Given the description of an element on the screen output the (x, y) to click on. 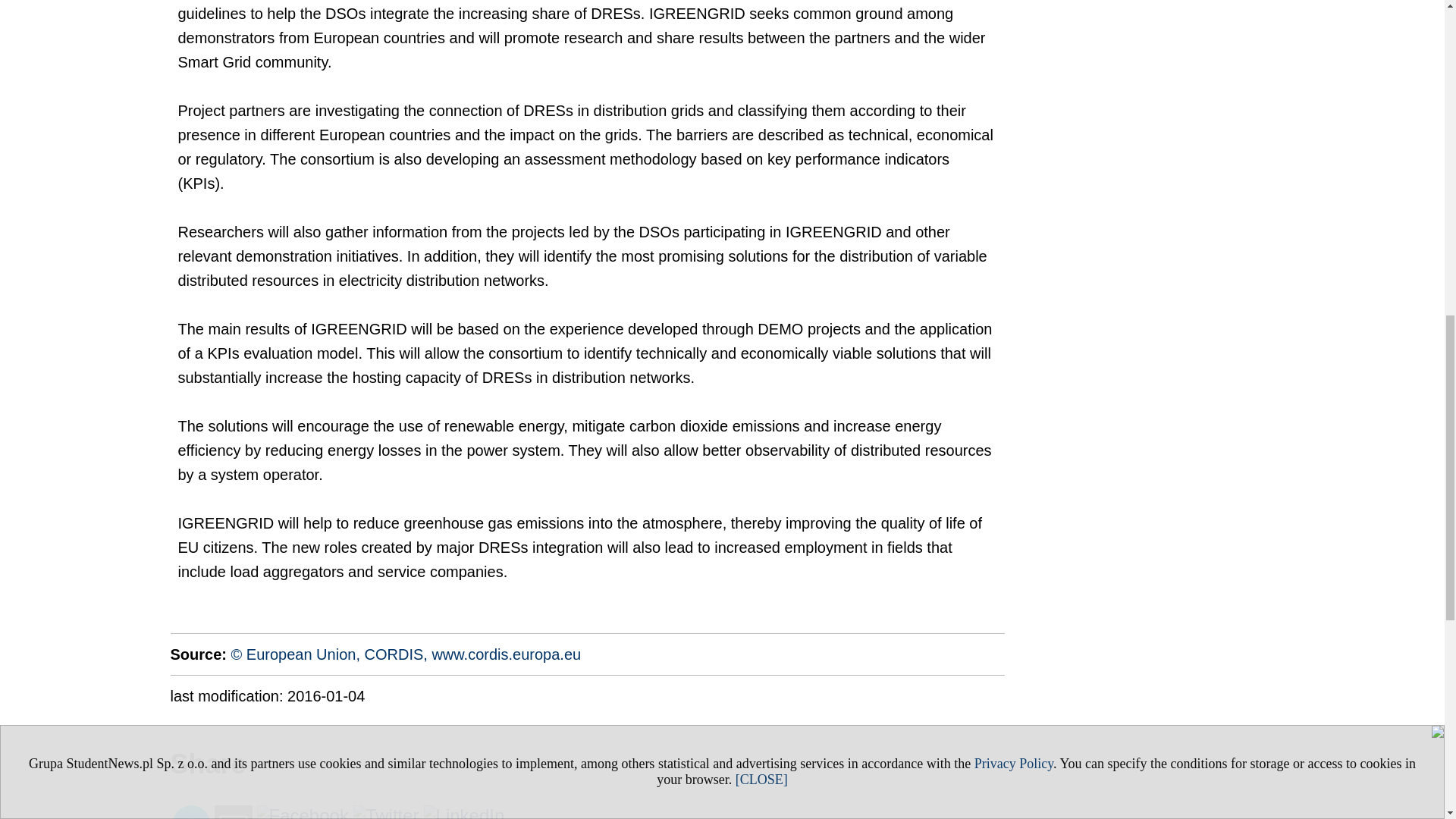
Facebook (301, 812)
LinkedIn (464, 812)
Twitter (386, 812)
